Given the description of an element on the screen output the (x, y) to click on. 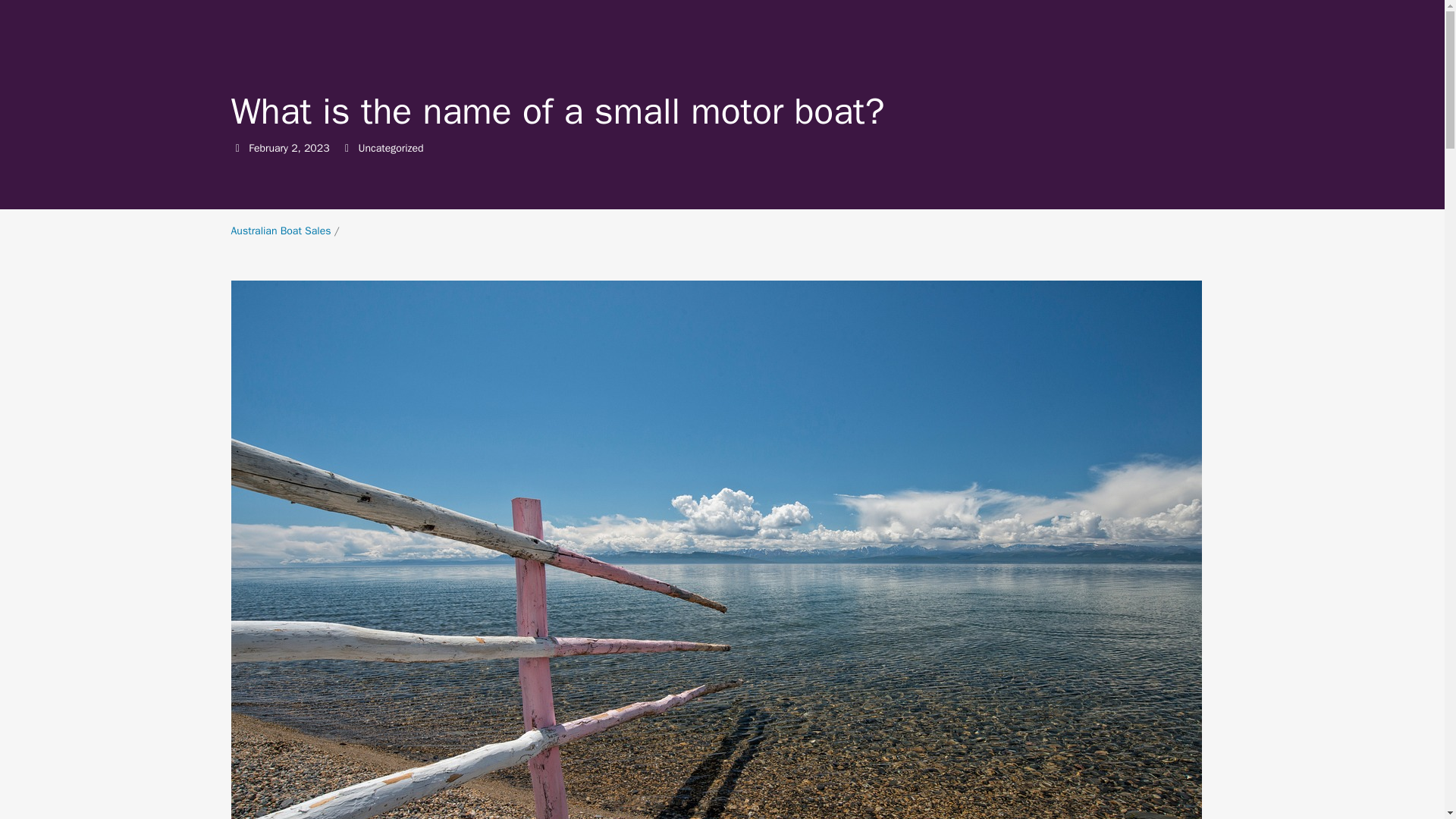
2023 (317, 147)
February (268, 147)
